Given the description of an element on the screen output the (x, y) to click on. 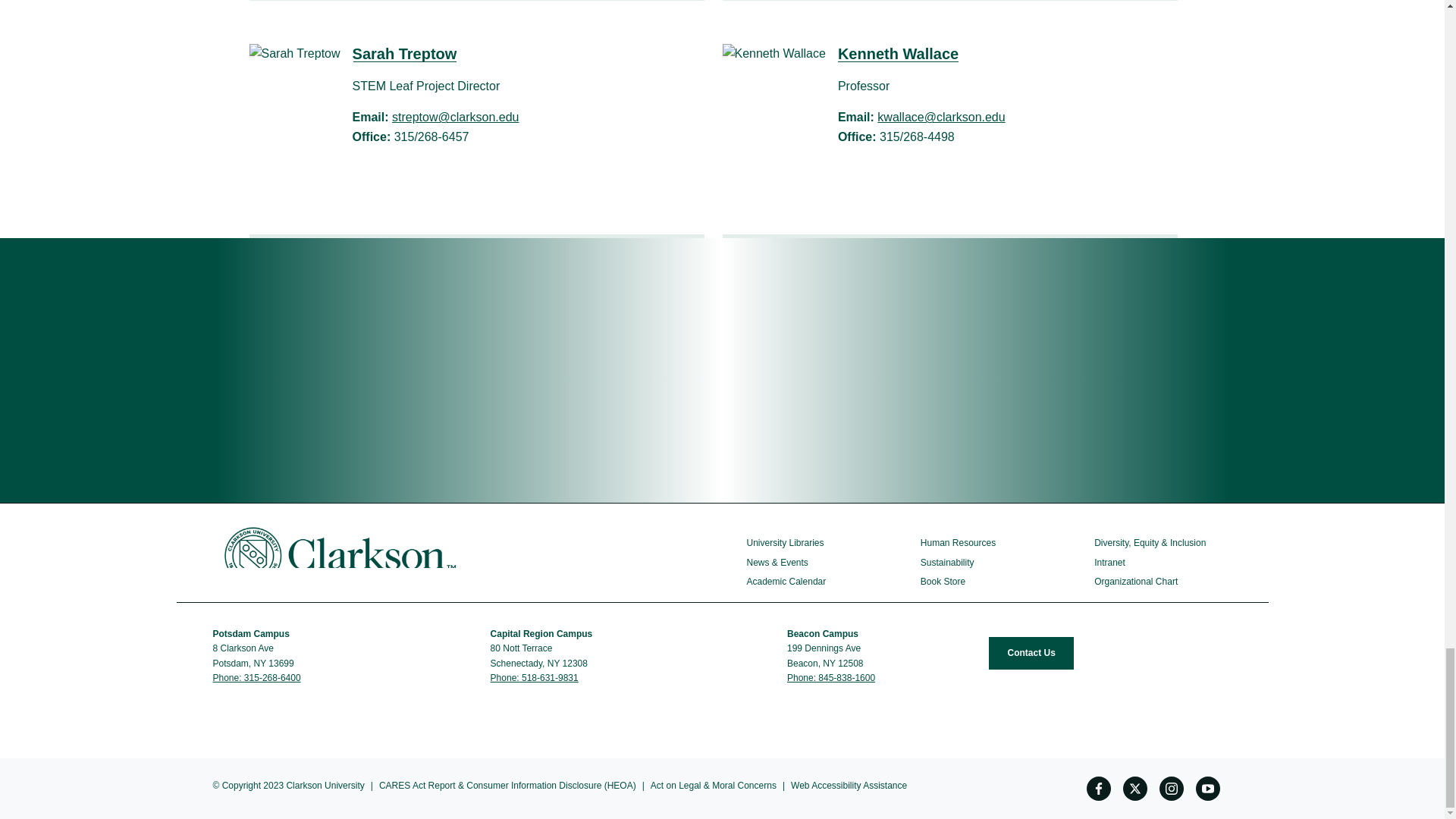
Potsdam Campus (252, 633)
Capital Region Campus (542, 633)
Web Accessibility Assistance (848, 785)
